Given the description of an element on the screen output the (x, y) to click on. 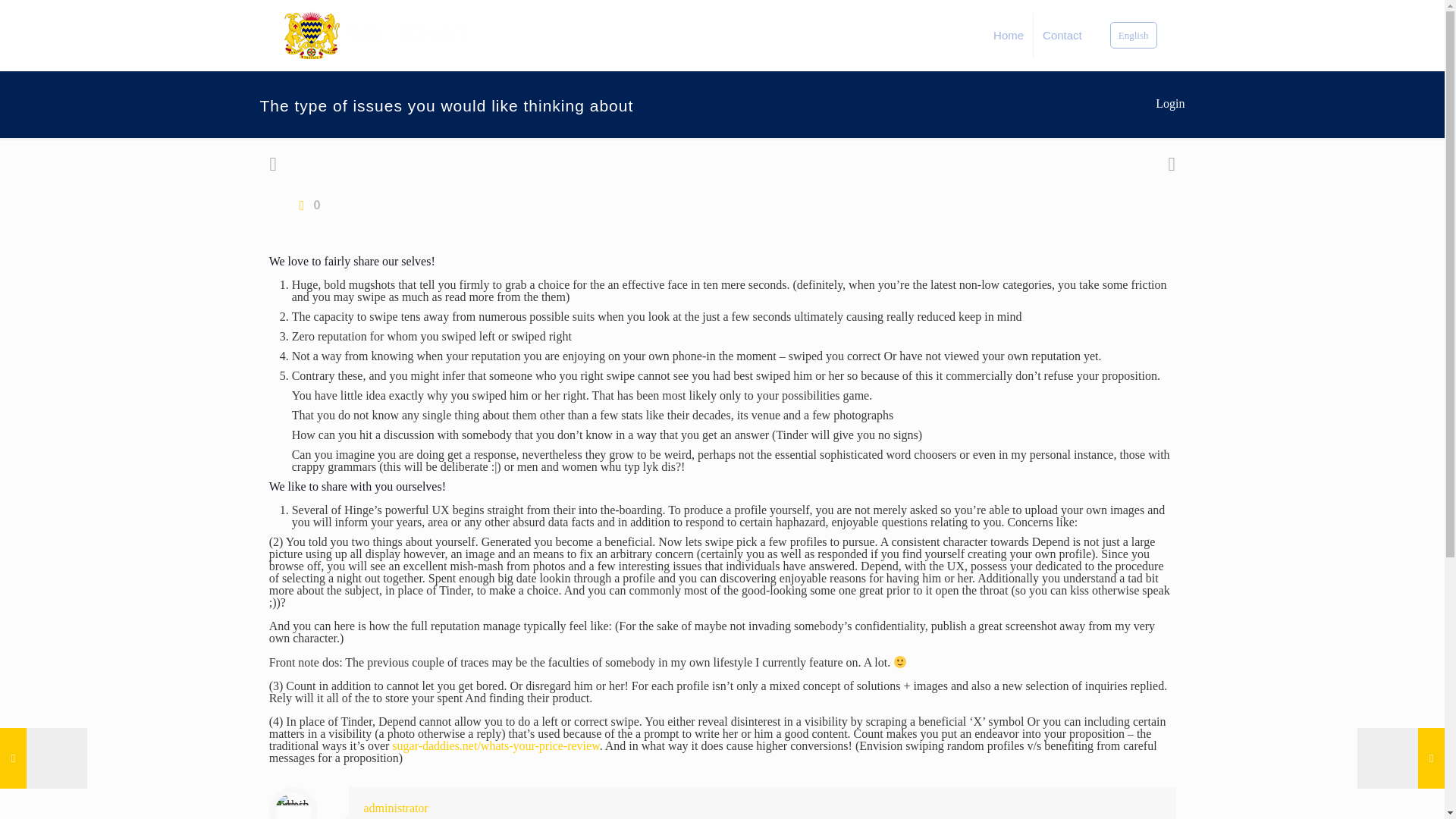
Home (1008, 35)
Contact (1061, 35)
0 (306, 205)
SIGL TCHAD (374, 35)
administrator (396, 807)
Login (1170, 103)
English (1133, 35)
